Given the description of an element on the screen output the (x, y) to click on. 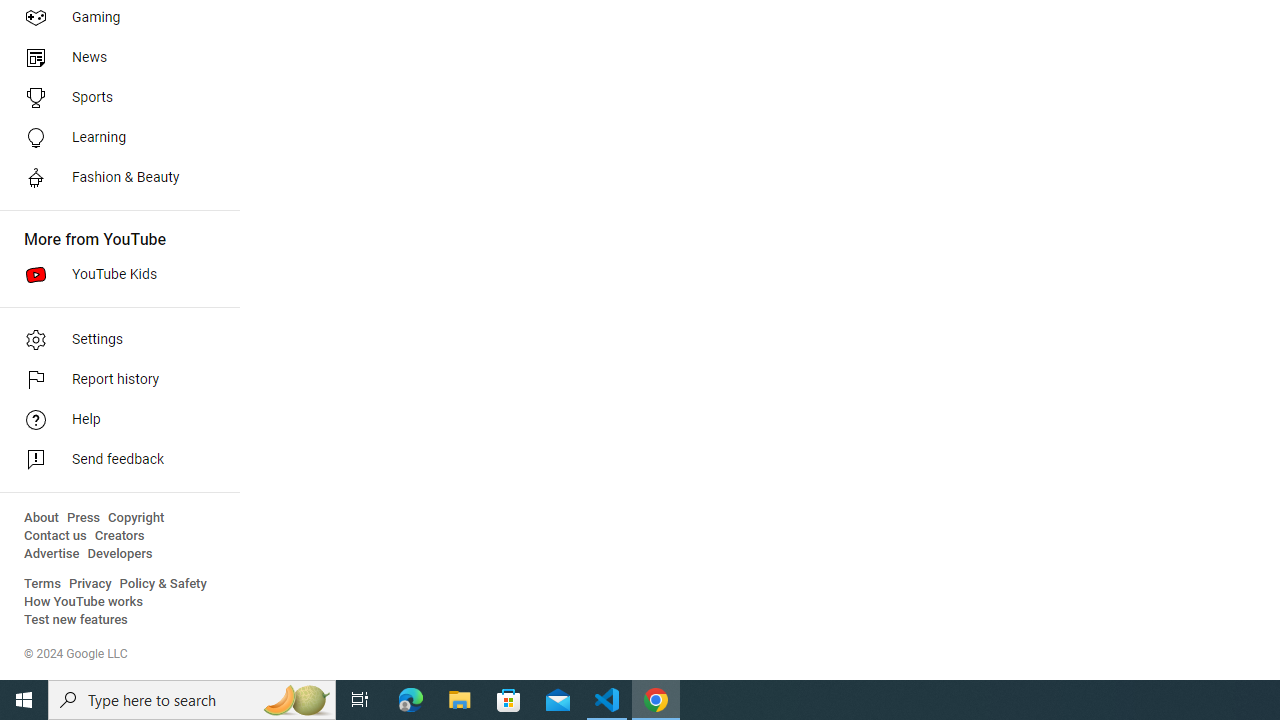
Learning (113, 137)
Sports (113, 97)
Press (83, 518)
Test new features (76, 620)
YouTube Kids (113, 274)
About (41, 518)
Advertise (51, 554)
Policy & Safety (163, 584)
News (113, 57)
How YouTube works (83, 602)
Privacy (89, 584)
Report history (113, 380)
Contact us (55, 536)
Fashion & Beauty (113, 177)
Developers (120, 554)
